Given the description of an element on the screen output the (x, y) to click on. 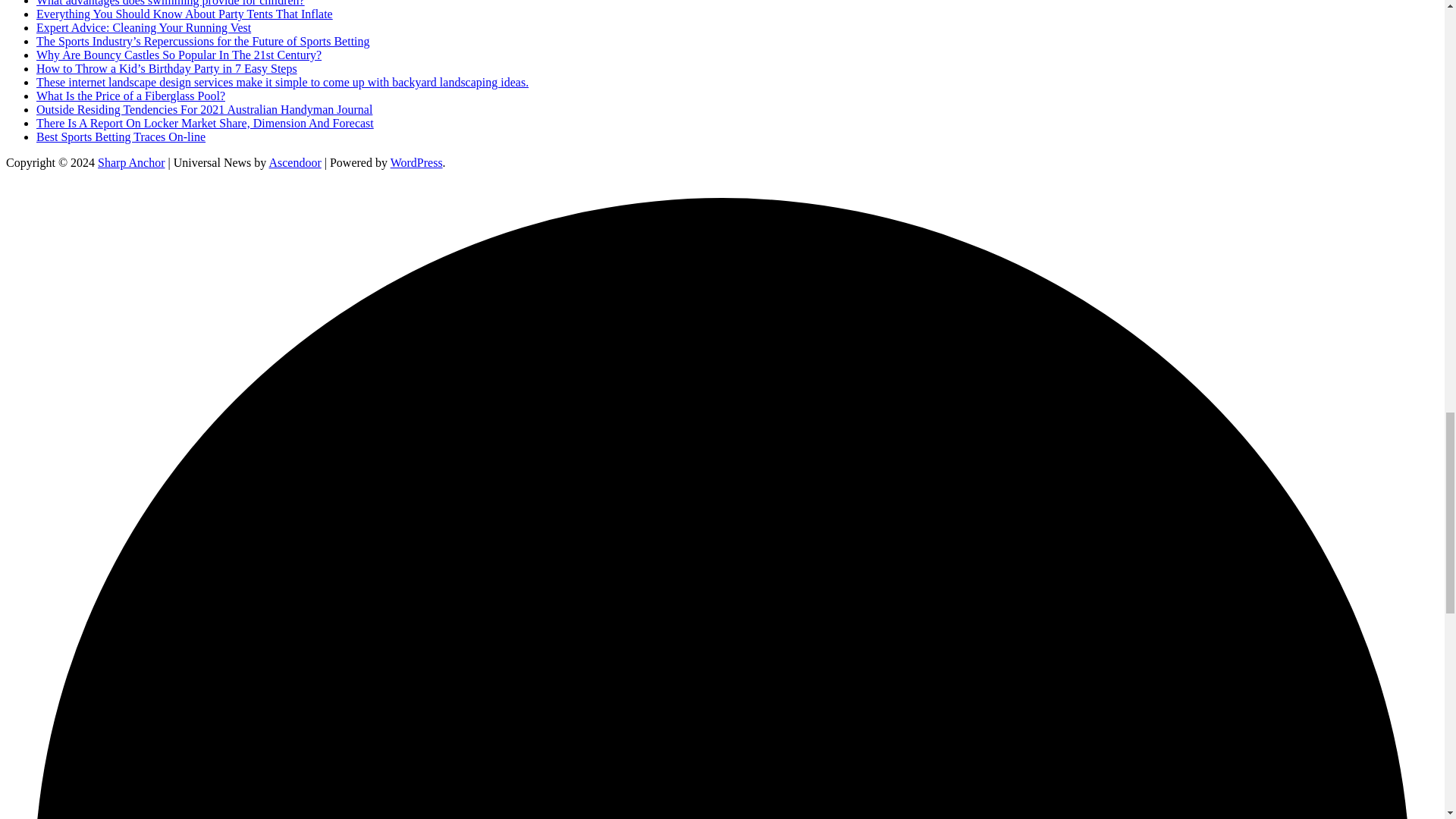
Why Are Bouncy Castles So Popular In The 21st Century? (178, 54)
Expert Advice: Cleaning Your Running Vest (143, 27)
What advantages does swimming provide for children? (170, 3)
Everything You Should Know About Party Tents That Inflate (184, 13)
Best Sports Betting Traces On-line (120, 136)
WordPress (416, 162)
What Is the Price of a Fiberglass Pool? (130, 95)
Sharp Anchor (130, 162)
Ascendoor (293, 162)
